Given the description of an element on the screen output the (x, y) to click on. 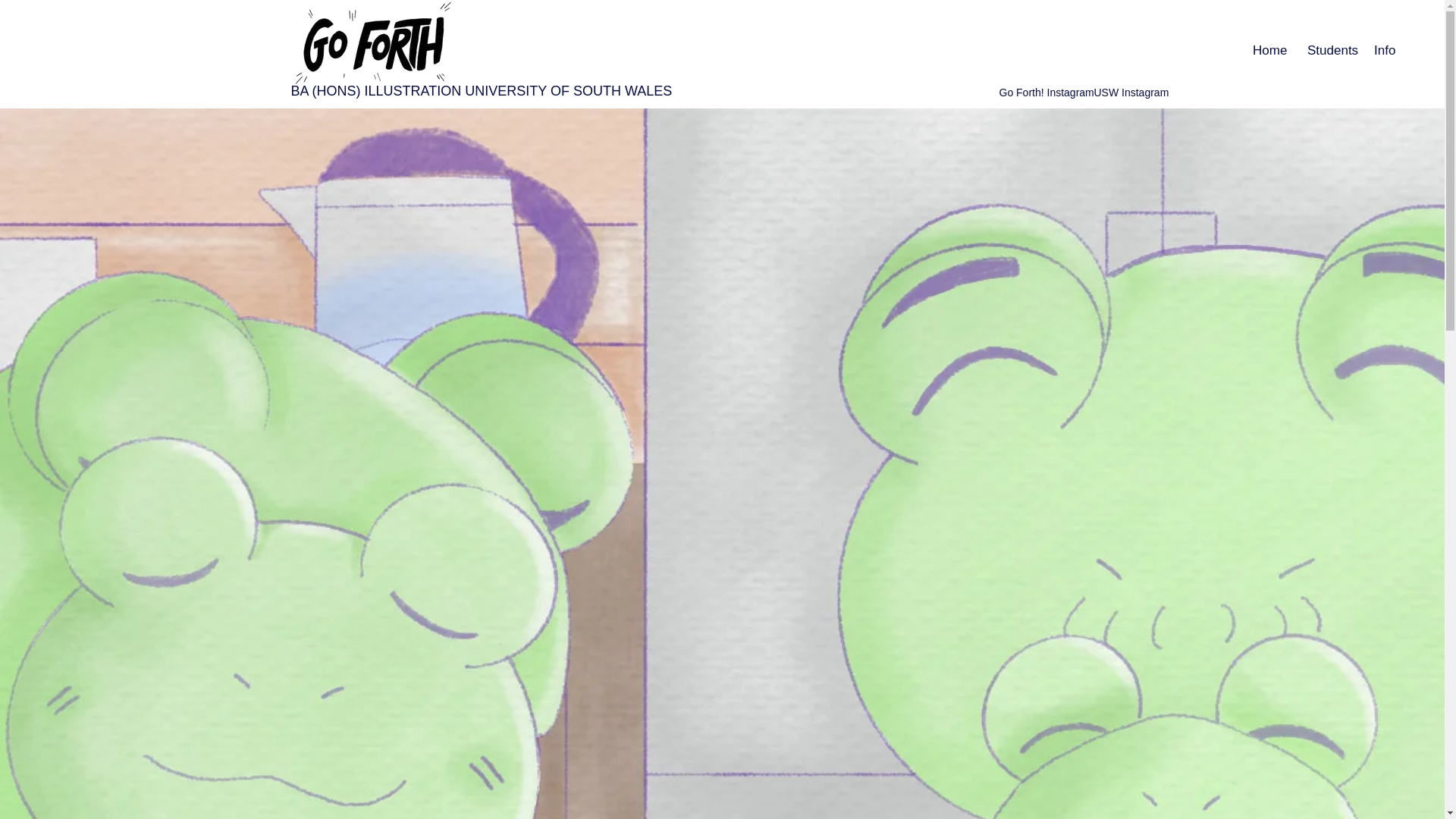
USW Instagram (1131, 92)
Students (1328, 50)
Go Forth! Instagram (1046, 92)
Home (1268, 50)
Info (1383, 50)
